Given the description of an element on the screen output the (x, y) to click on. 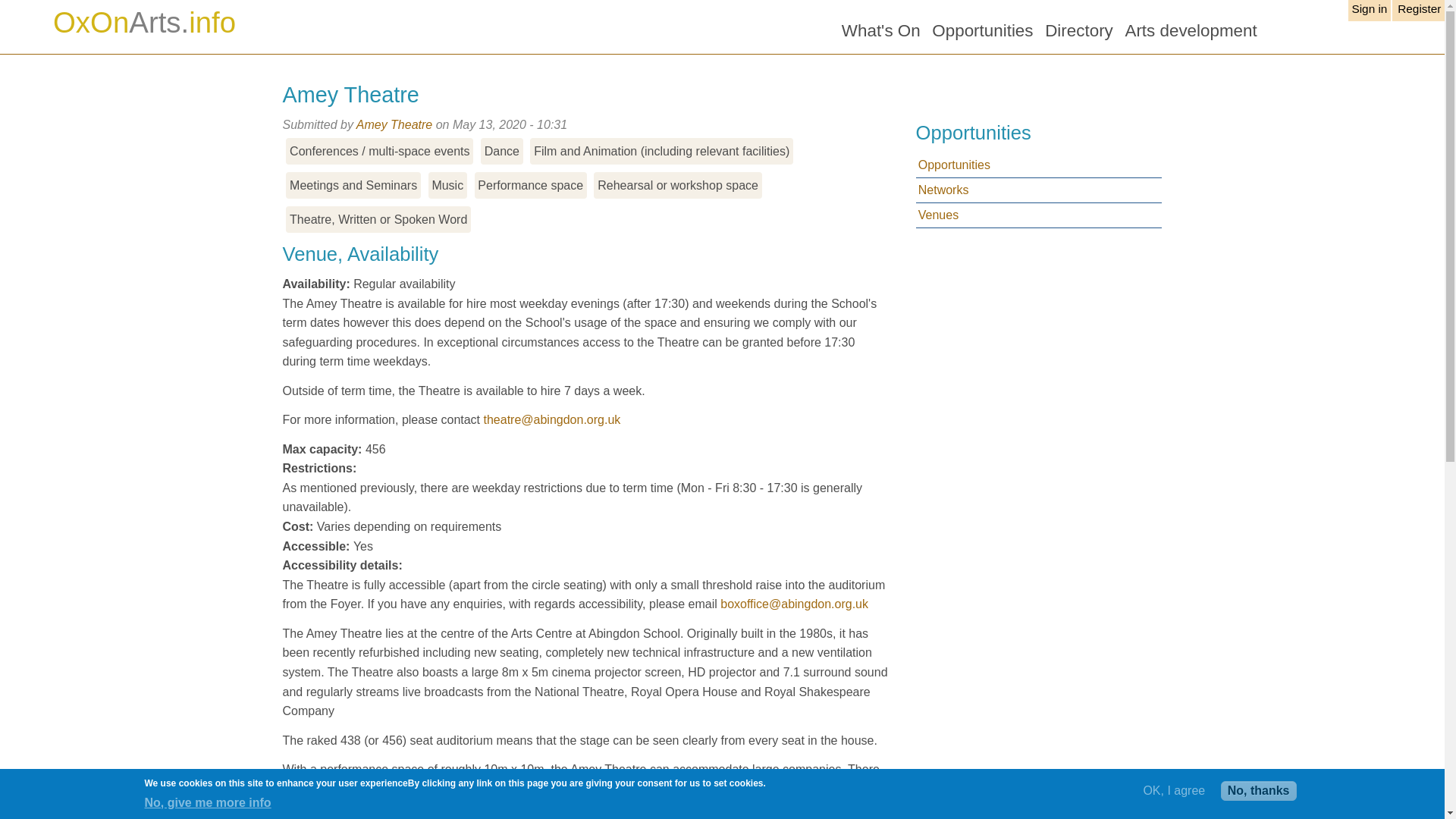
Arts development (1190, 30)
View user profile. (394, 124)
Networks (1038, 190)
Sign in (1369, 10)
Venues (1038, 215)
Amey Theatre (394, 124)
OxOnArts.info (143, 21)
Home (143, 21)
What's On (879, 30)
Sign In to your OxOnArts account (1369, 10)
